Given the description of an element on the screen output the (x, y) to click on. 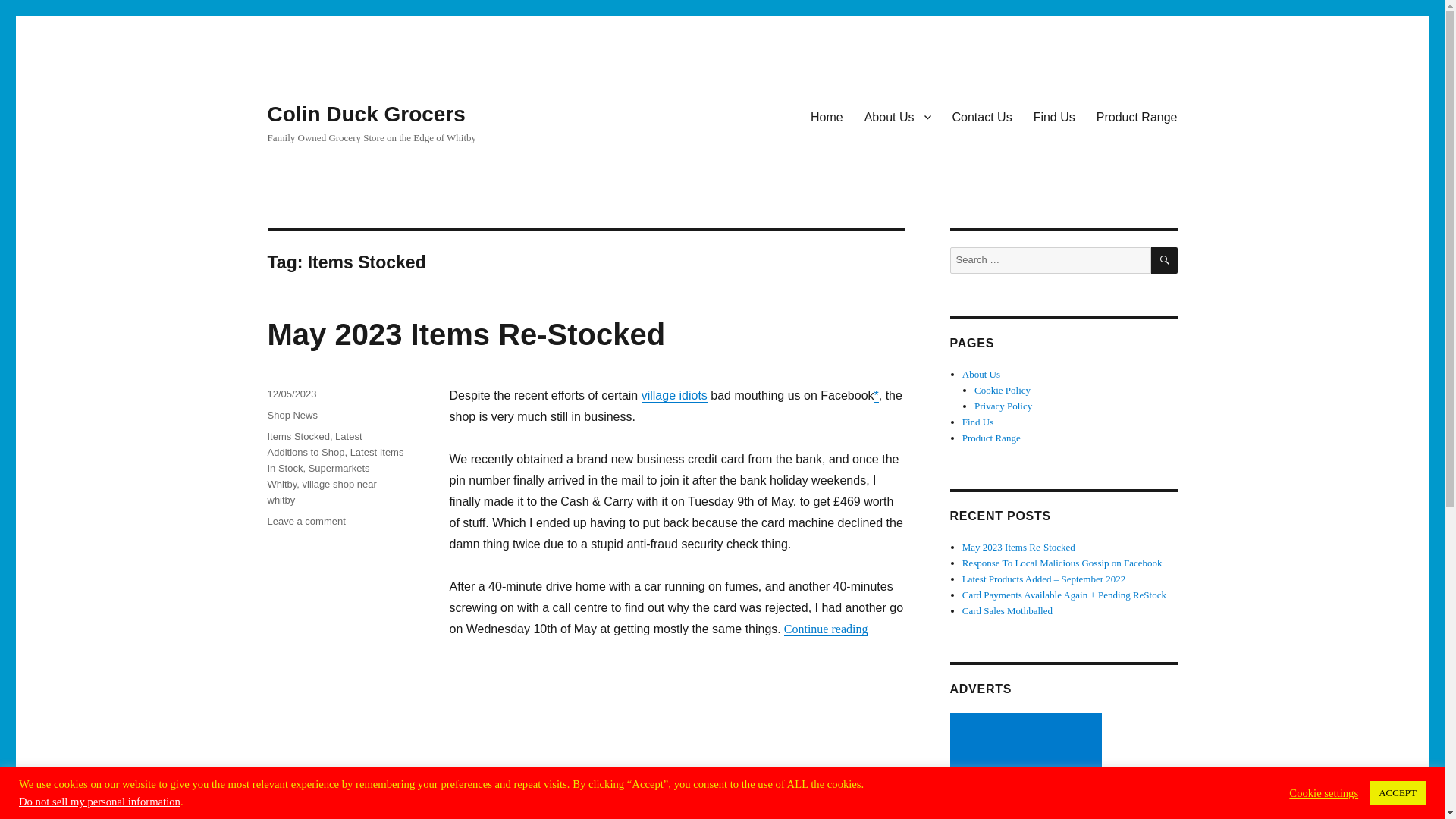
Cookie Policy (1002, 389)
About Us (897, 116)
Latest Items In Stock (305, 521)
Shop News (334, 460)
SEARCH (291, 414)
Privacy Policy (1164, 260)
Advertisement (1003, 405)
Product Range (1027, 766)
May 2023 Items Re-Stocked (991, 437)
